Given the description of an element on the screen output the (x, y) to click on. 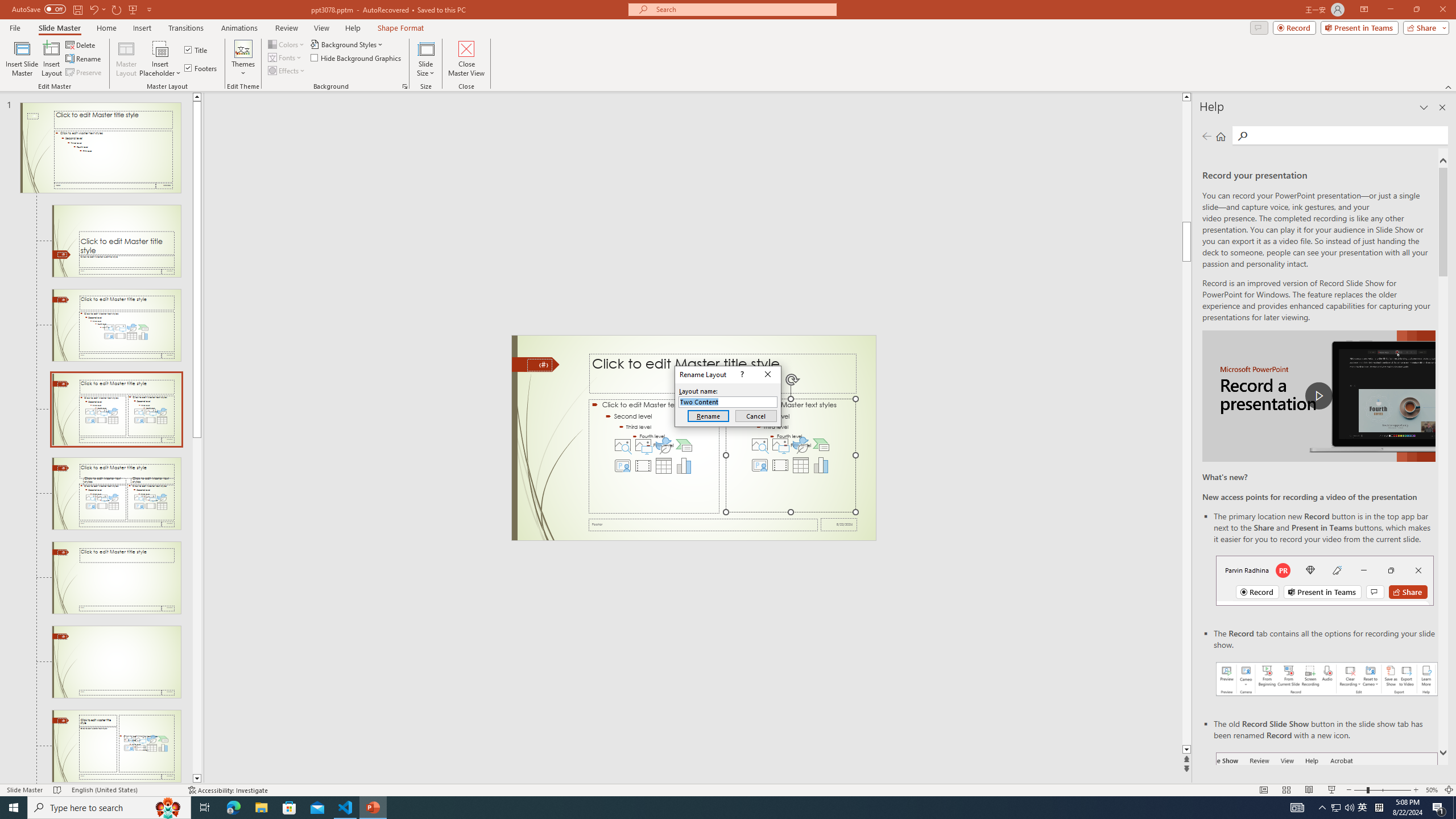
Close Master View (466, 58)
Insert Chart (820, 465)
Insert Slide Master (21, 58)
Slide Wisp Slide Master: used by slide(s) 1 (100, 147)
Fonts (285, 56)
